Given the description of an element on the screen output the (x, y) to click on. 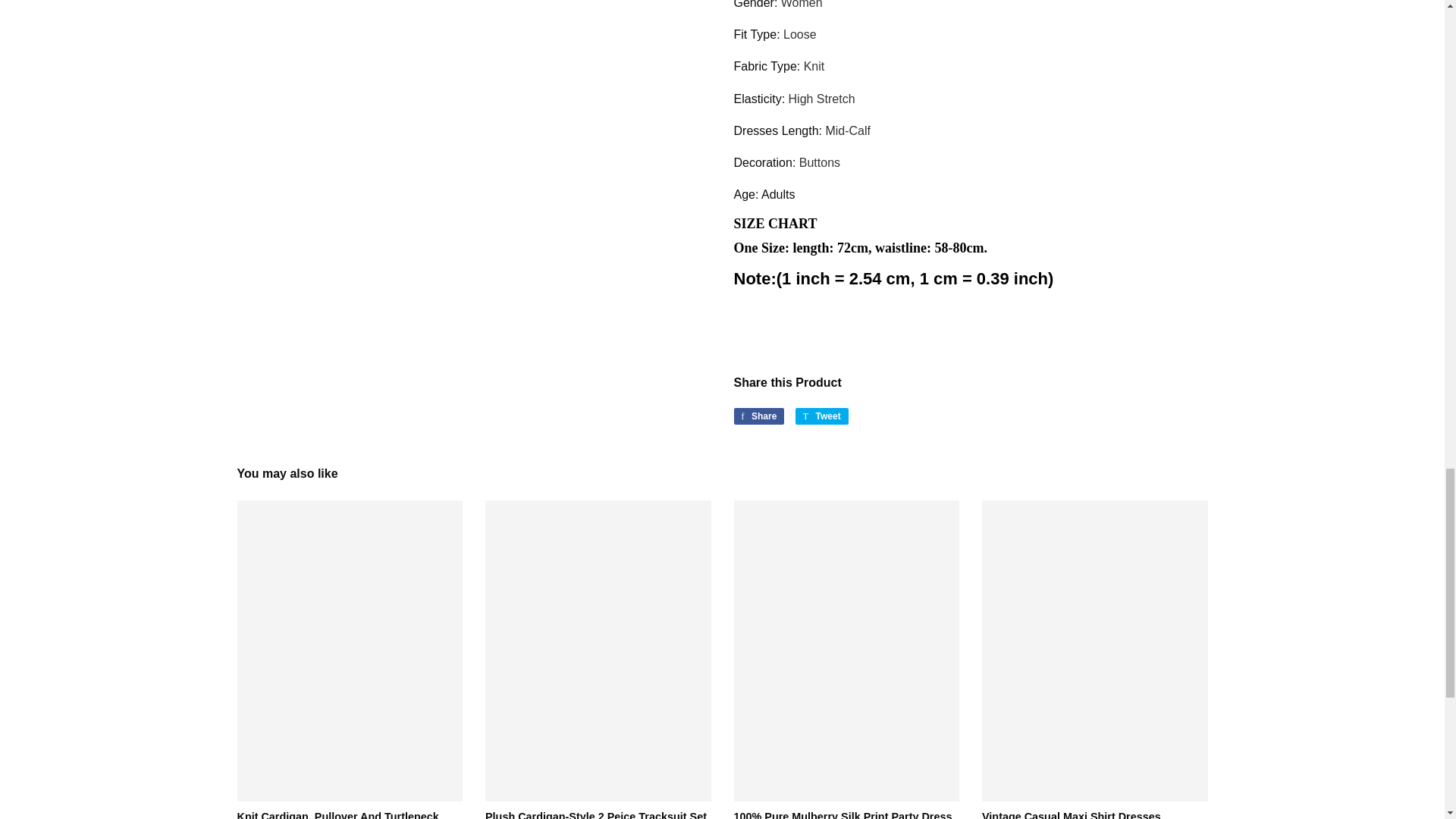
Tweet on Twitter (821, 416)
Share on Facebook (758, 416)
